Given the description of an element on the screen output the (x, y) to click on. 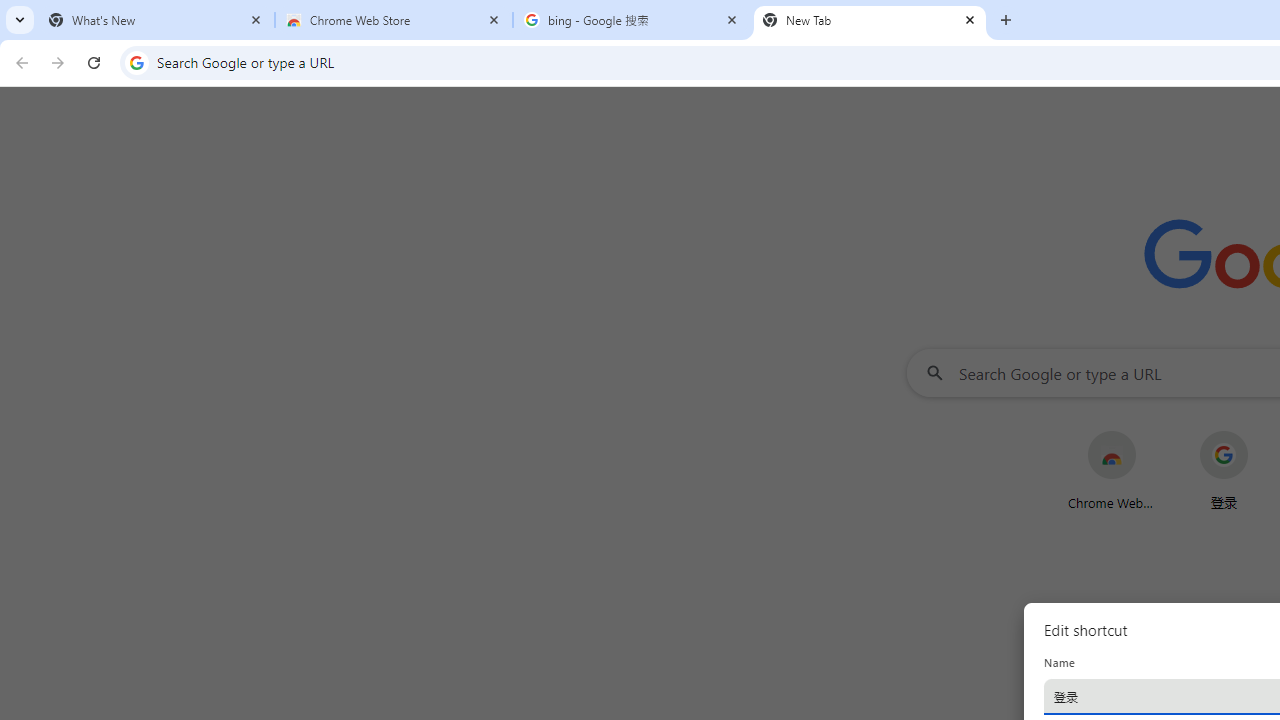
New Tab (870, 20)
Chrome Web Store (394, 20)
What's New (156, 20)
